Given the description of an element on the screen output the (x, y) to click on. 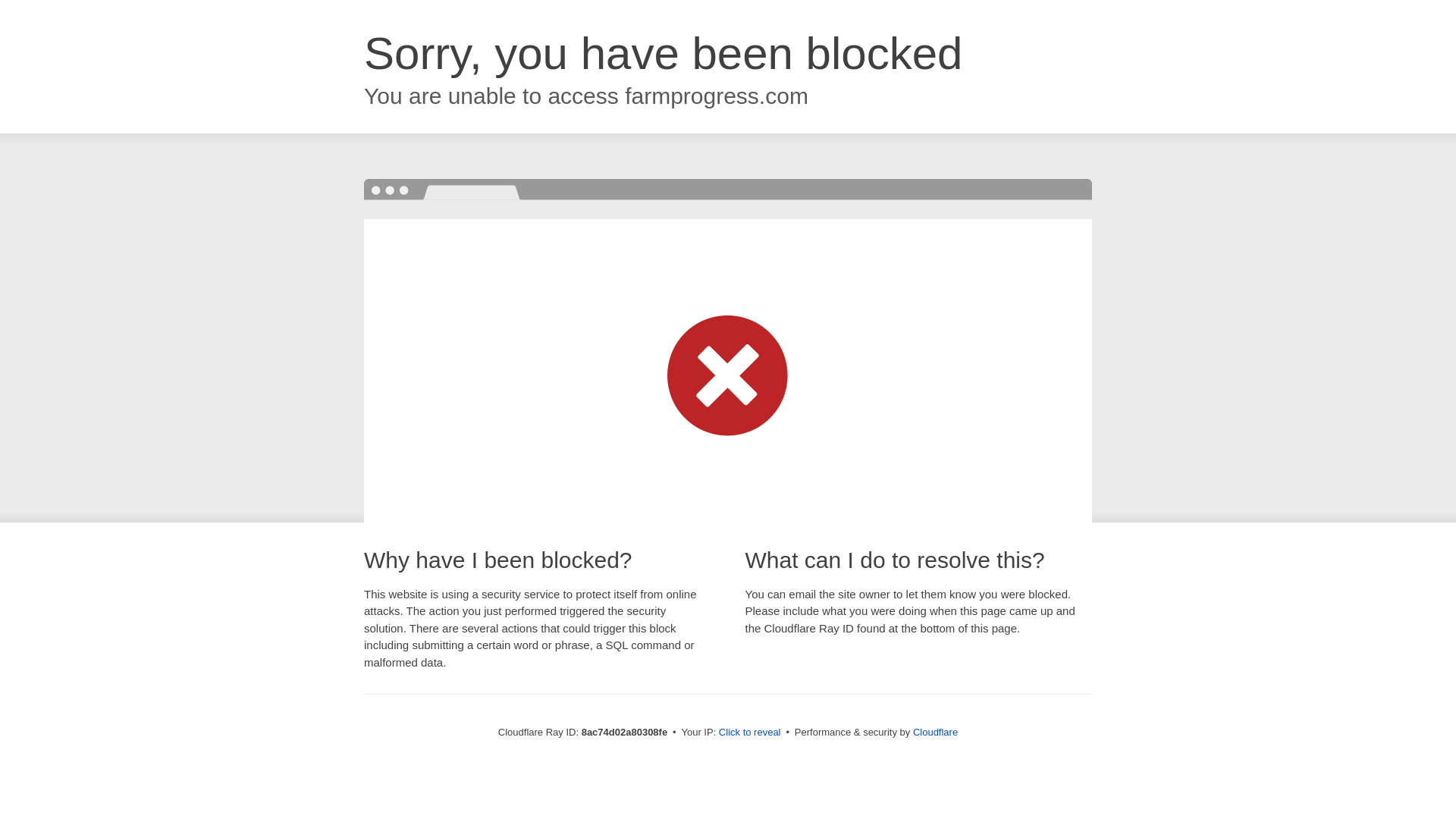
Click to reveal (749, 732)
Cloudflare (935, 731)
